Given the description of an element on the screen output the (x, y) to click on. 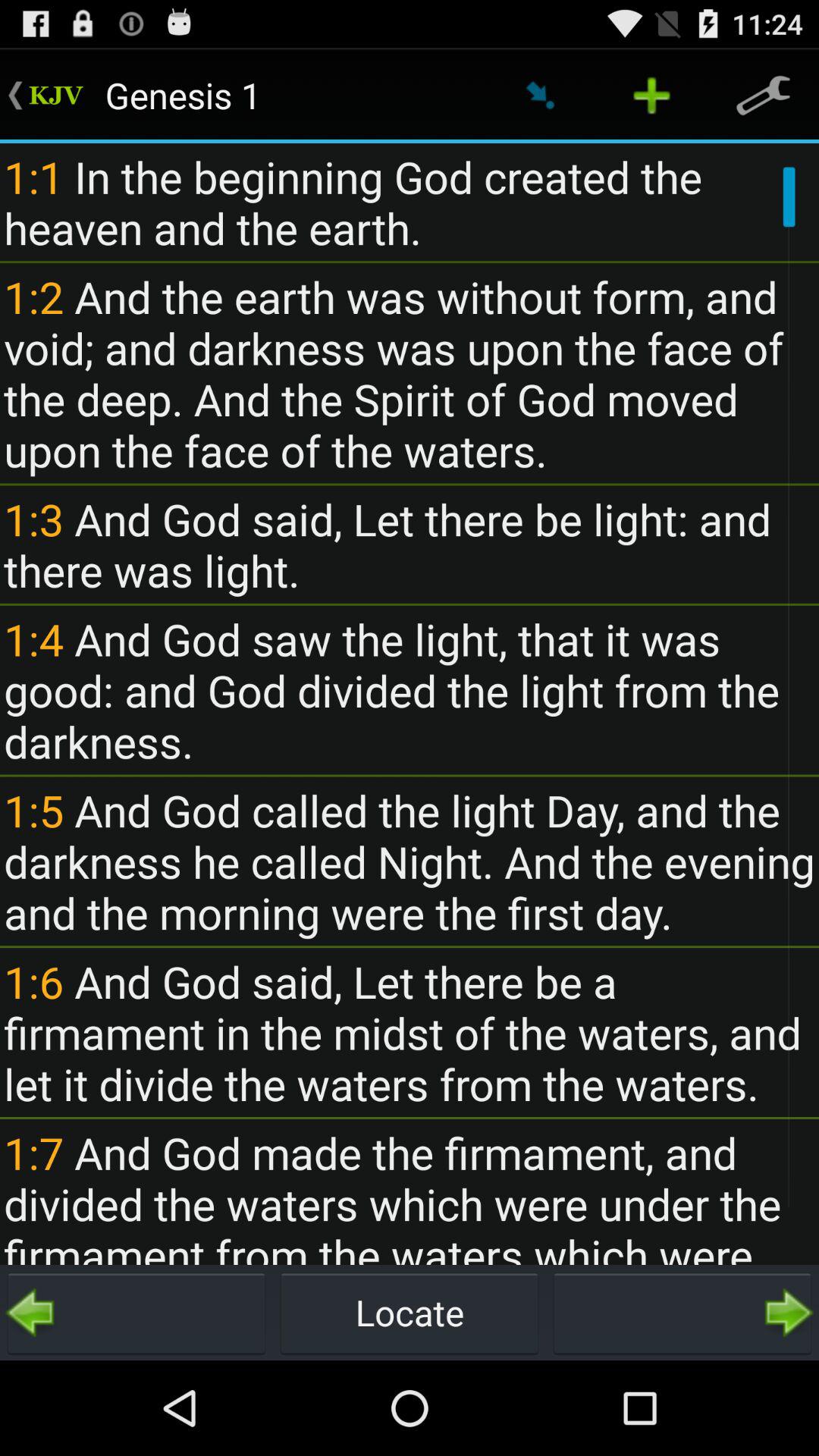
go forward (682, 1312)
